Given the description of an element on the screen output the (x, y) to click on. 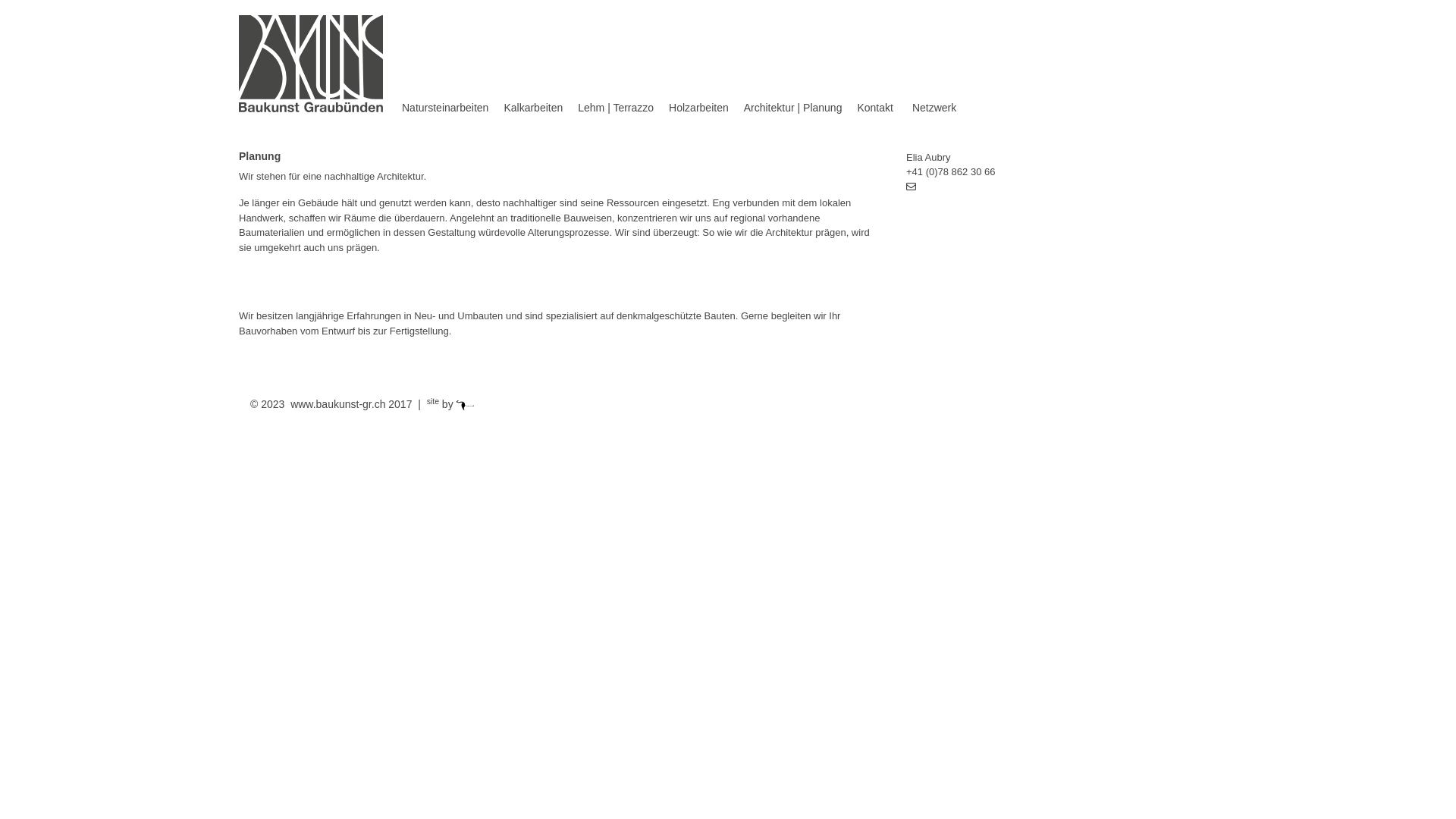
Architektur | Planung Element type: text (793, 107)
Netzwerk Element type: text (928, 107)
Lehm | Terrazzo Element type: text (615, 107)
Kalkarbeiten Element type: text (532, 107)
Kontakt Element type: text (874, 107)
+41 (0)78 862 30 66 Element type: text (950, 171)
Holzarbeiten Element type: text (698, 107)
Natursteinarbeiten Element type: text (444, 107)
